Given the description of an element on the screen output the (x, y) to click on. 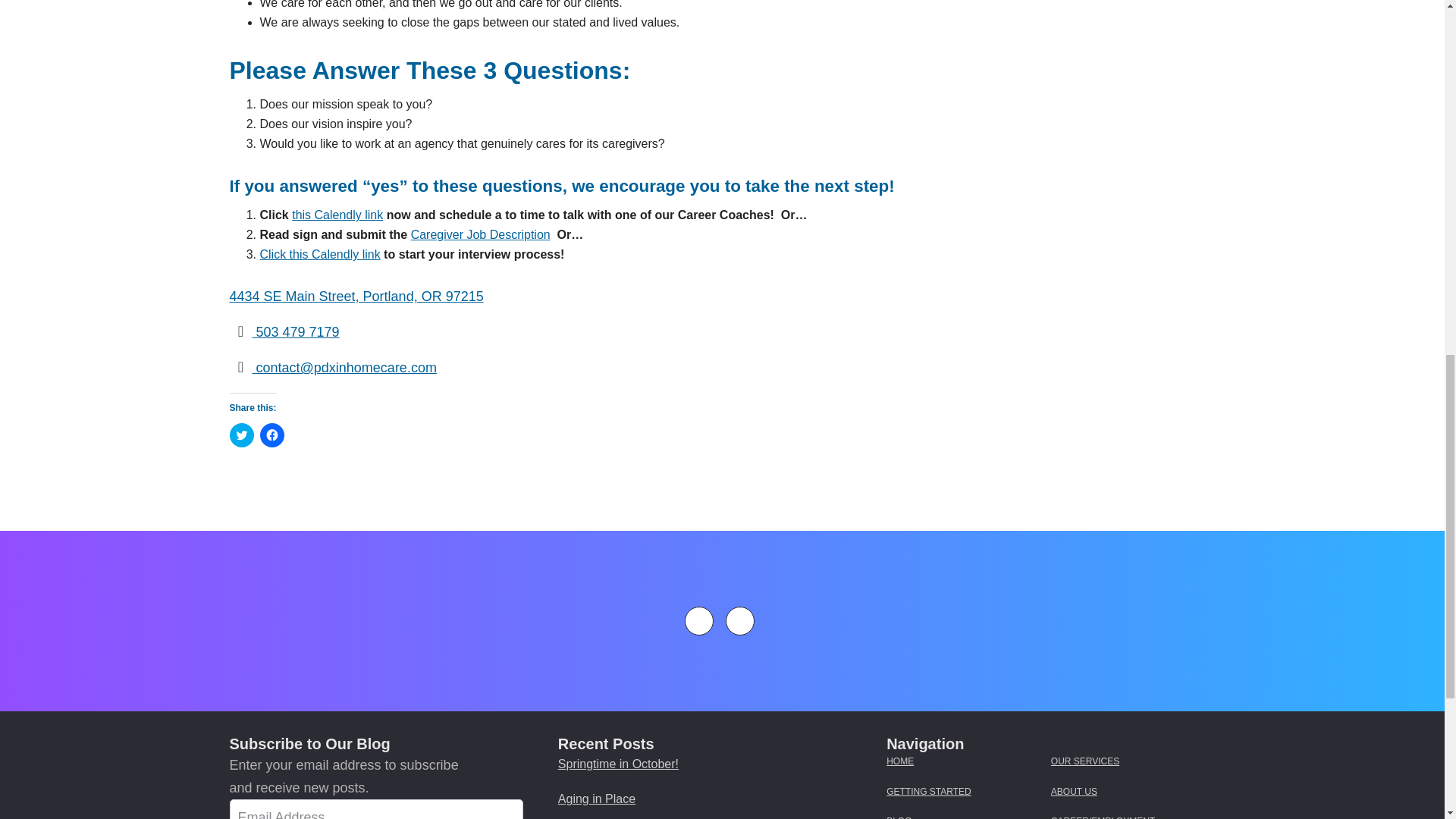
Click to share on Twitter (240, 435)
Click to share on Facebook (271, 435)
this Calendly link (337, 214)
Click this Calendly link (319, 254)
Caregiver Job Description (480, 234)
